Given the description of an element on the screen output the (x, y) to click on. 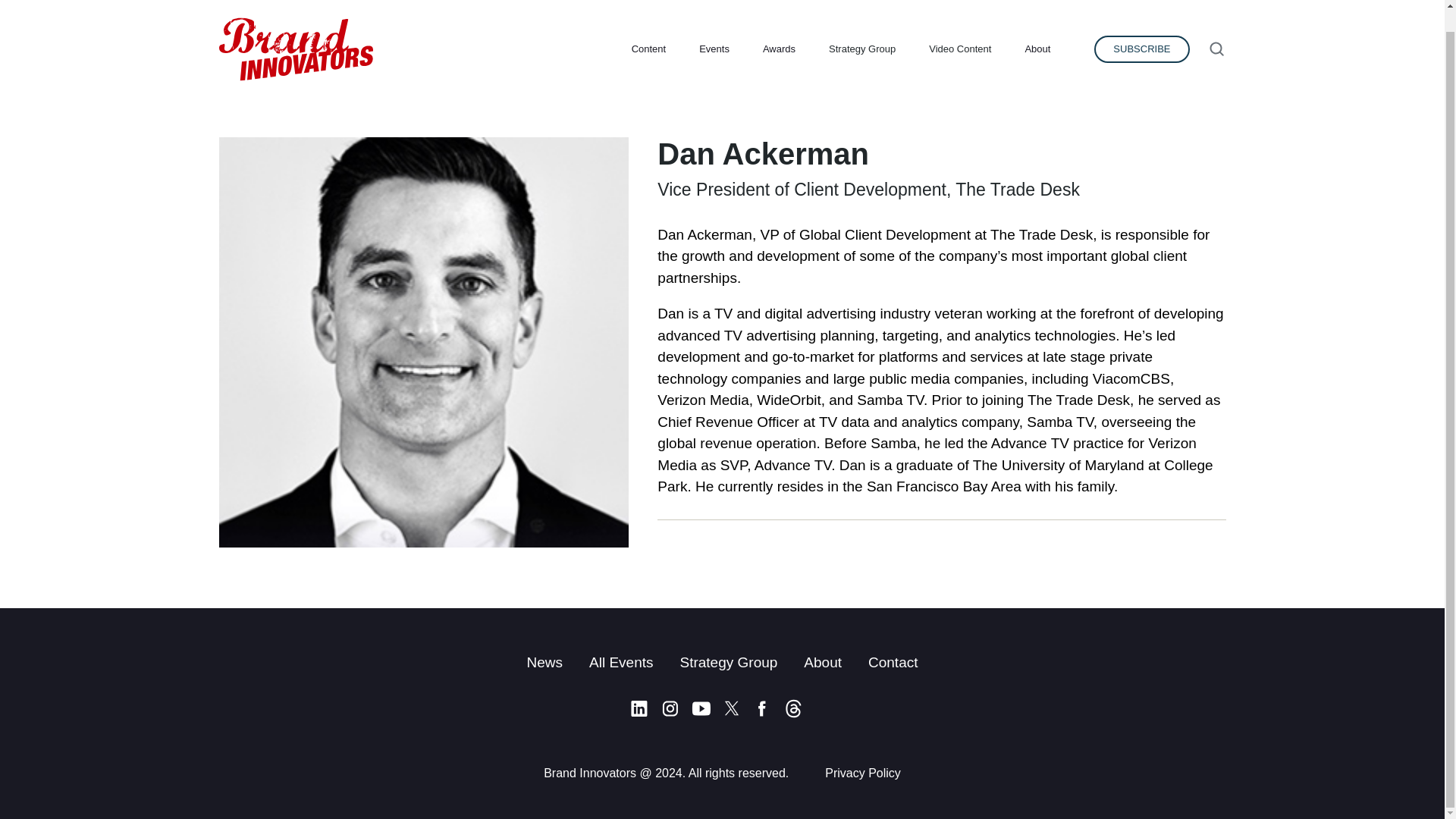
News (543, 662)
Content (649, 26)
About (1037, 26)
Video Content (959, 26)
Strategy Group (728, 662)
Strategy Group (861, 26)
Contact (892, 662)
About (822, 662)
Events (713, 26)
Awards (779, 26)
All Events (620, 662)
SUBSCRIBE (1141, 26)
